Given the description of an element on the screen output the (x, y) to click on. 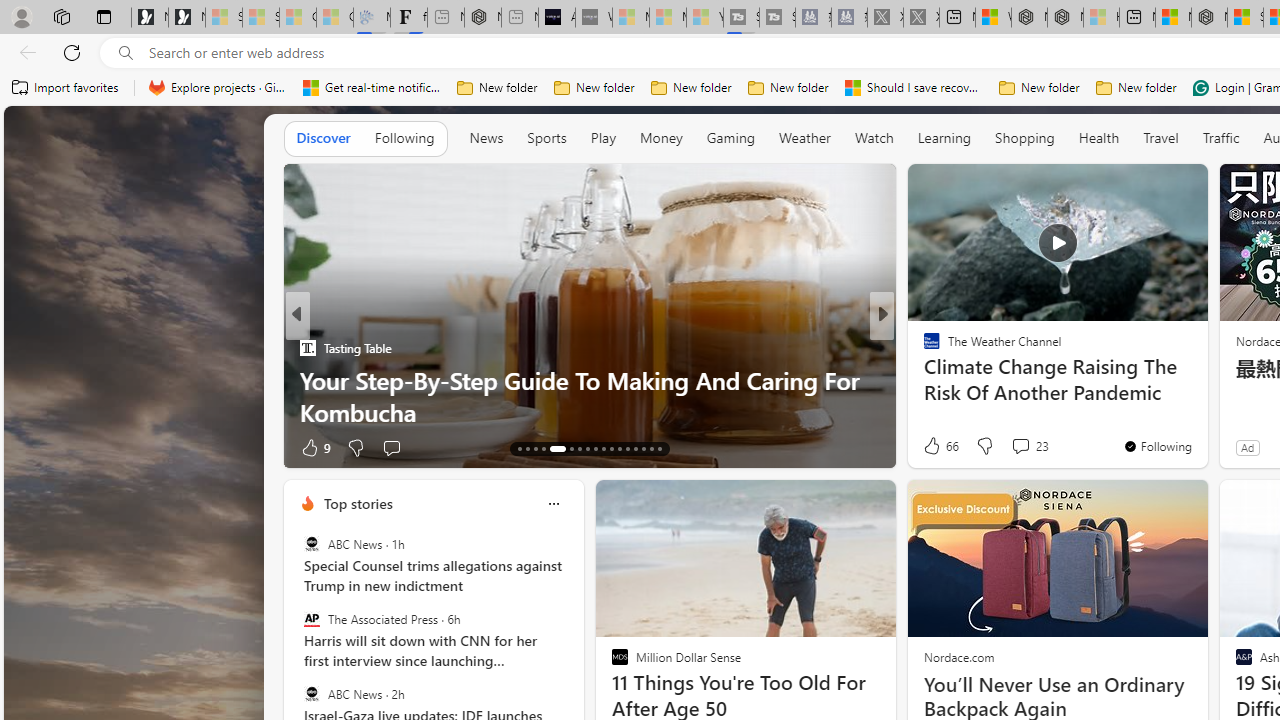
Chip Chick (923, 347)
67 Like (934, 447)
Inc. (923, 347)
The Weather Channel (923, 347)
AutomationID: tab-20 (586, 448)
New folder (1136, 88)
AutomationID: tab-15 (535, 448)
Import favorites (65, 88)
